Given the description of an element on the screen output the (x, y) to click on. 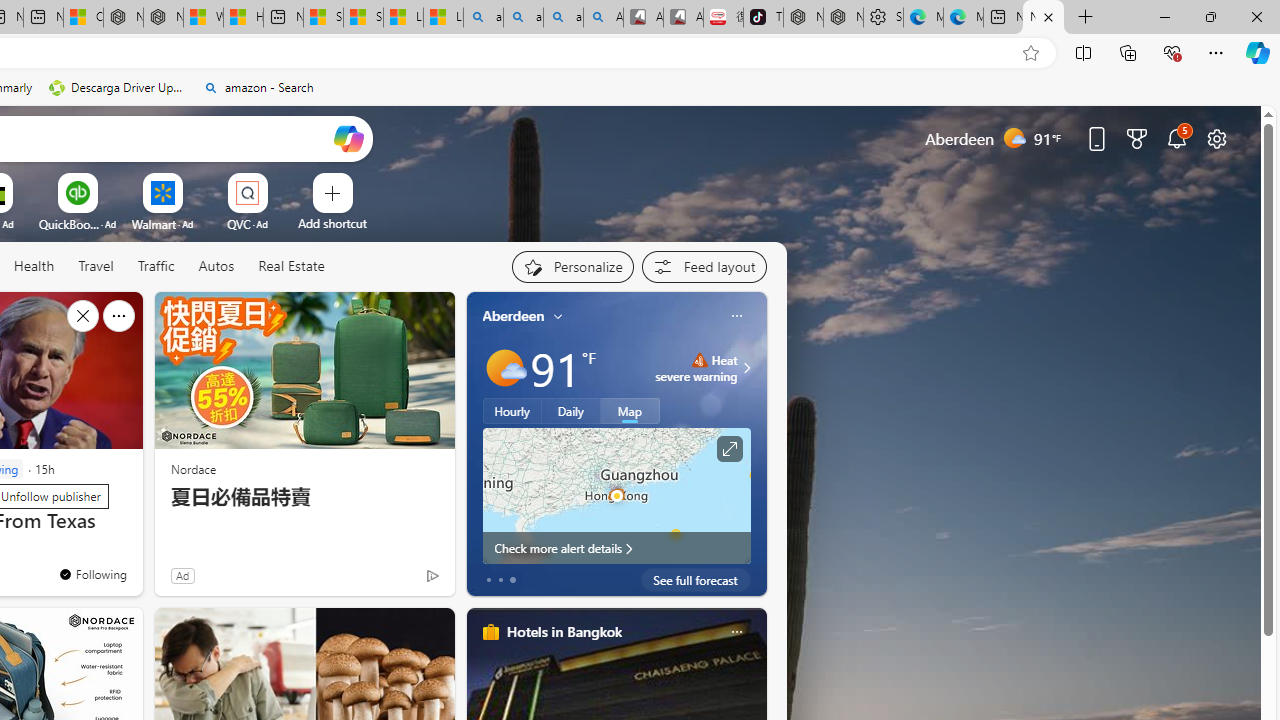
Hide this story (82, 315)
Amazon Echo Robot - Search Images (603, 17)
See full forecast (695, 579)
You're following FOX News (390, 579)
